Given the description of an element on the screen output the (x, y) to click on. 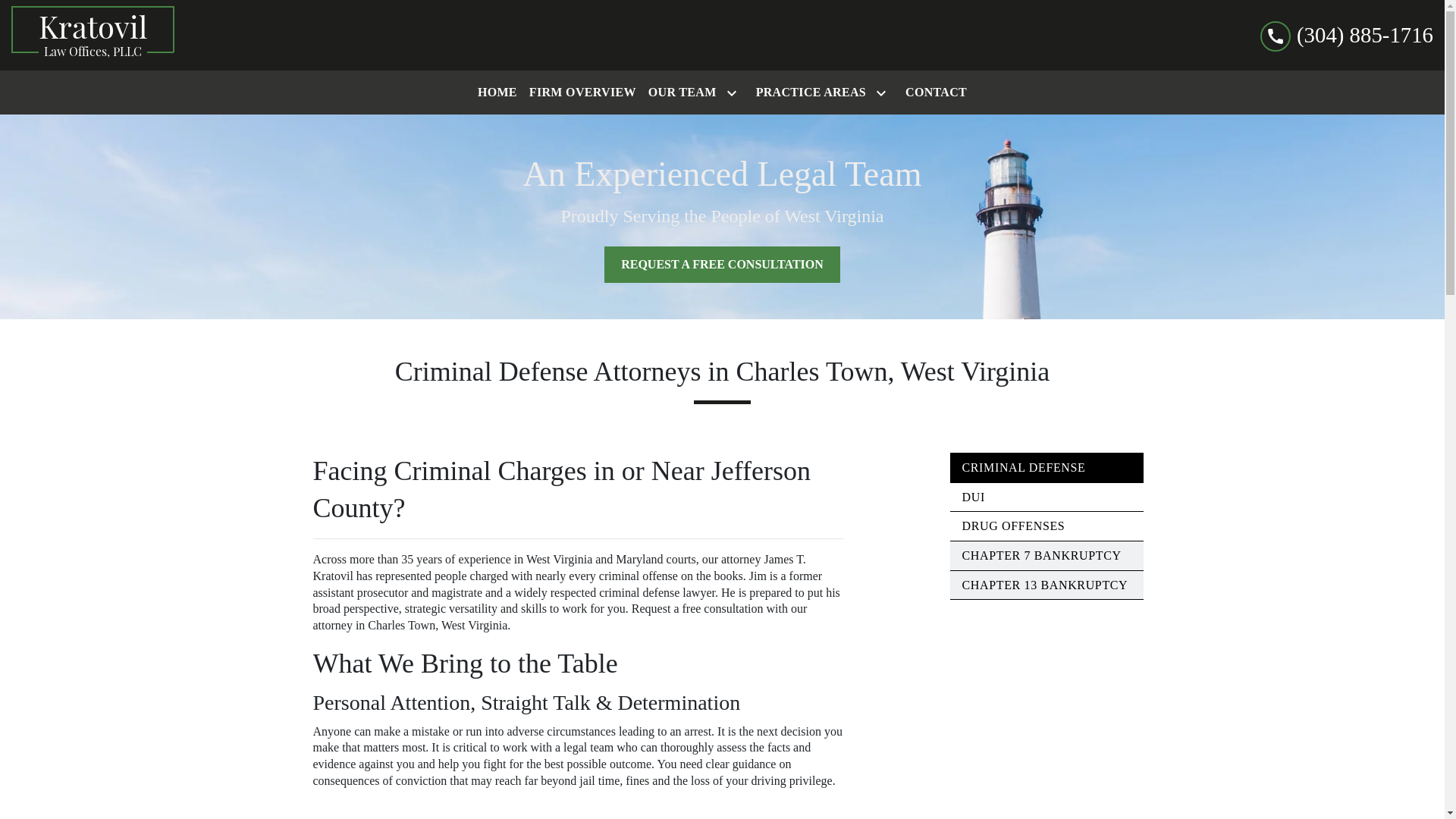
CHAPTER 7 BANKRUPTCY (1040, 554)
OUR TEAM (679, 92)
REQUEST A FREE CONSULTATION (722, 264)
FIRM OVERVIEW (582, 92)
CONTACT (935, 92)
PRACTICE AREAS (807, 92)
DRUG OFFENSES (1012, 525)
CHAPTER 13 BANKRUPTCY (1043, 584)
HOME (496, 92)
DUI (972, 496)
